Given the description of an element on the screen output the (x, y) to click on. 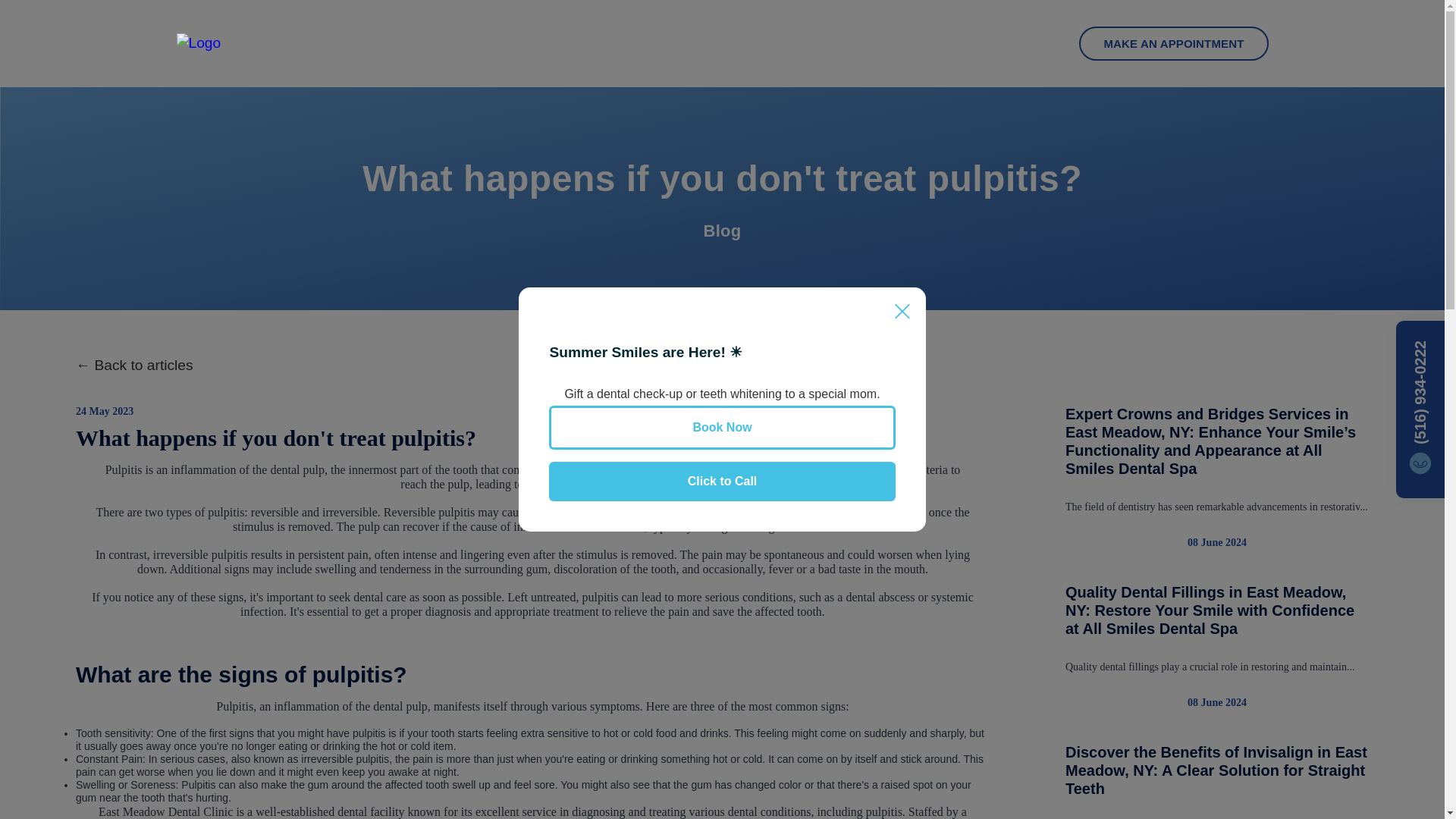
Click to Call (721, 481)
Book Now (721, 427)
MAKE AN APPOINTMENT (1173, 43)
